Given the description of an element on the screen output the (x, y) to click on. 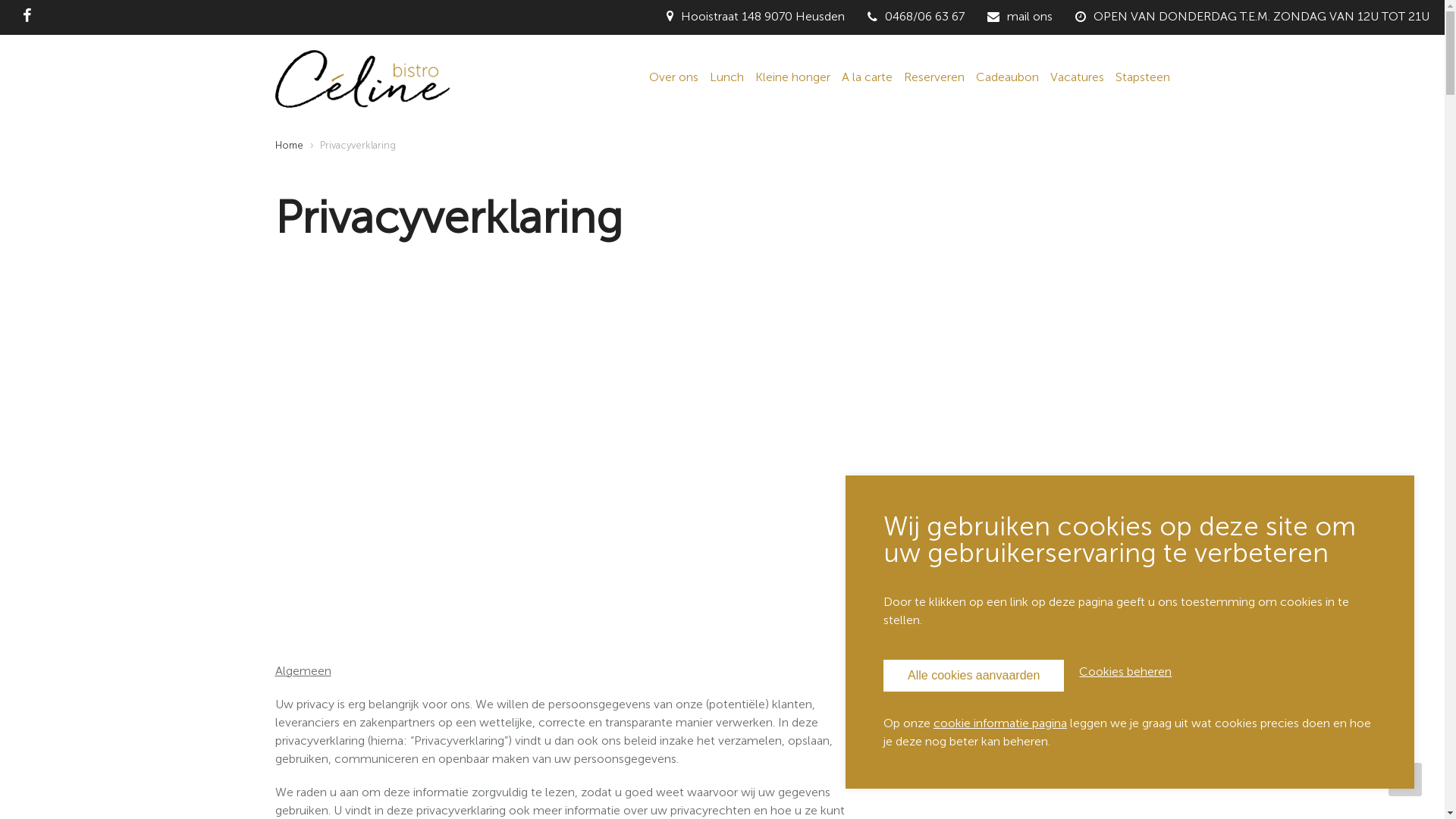
Home Element type: hover (361, 77)
0468/06 63 67 Element type: text (924, 16)
Stapsteen Element type: text (1141, 79)
Reserveren Element type: text (933, 79)
cookie informatie pagina Element type: text (999, 722)
Facebook Element type: hover (26, 16)
Over ons Element type: text (673, 79)
mail ons Element type: text (1029, 16)
Vacatures Element type: text (1076, 79)
Cadeaubon Element type: text (1006, 79)
Home Element type: text (288, 144)
Lunch Element type: text (726, 79)
Kleine honger Element type: text (792, 79)
Alle cookies aanvaarden Element type: text (973, 675)
A la carte Element type: text (866, 79)
